Given the description of an element on the screen output the (x, y) to click on. 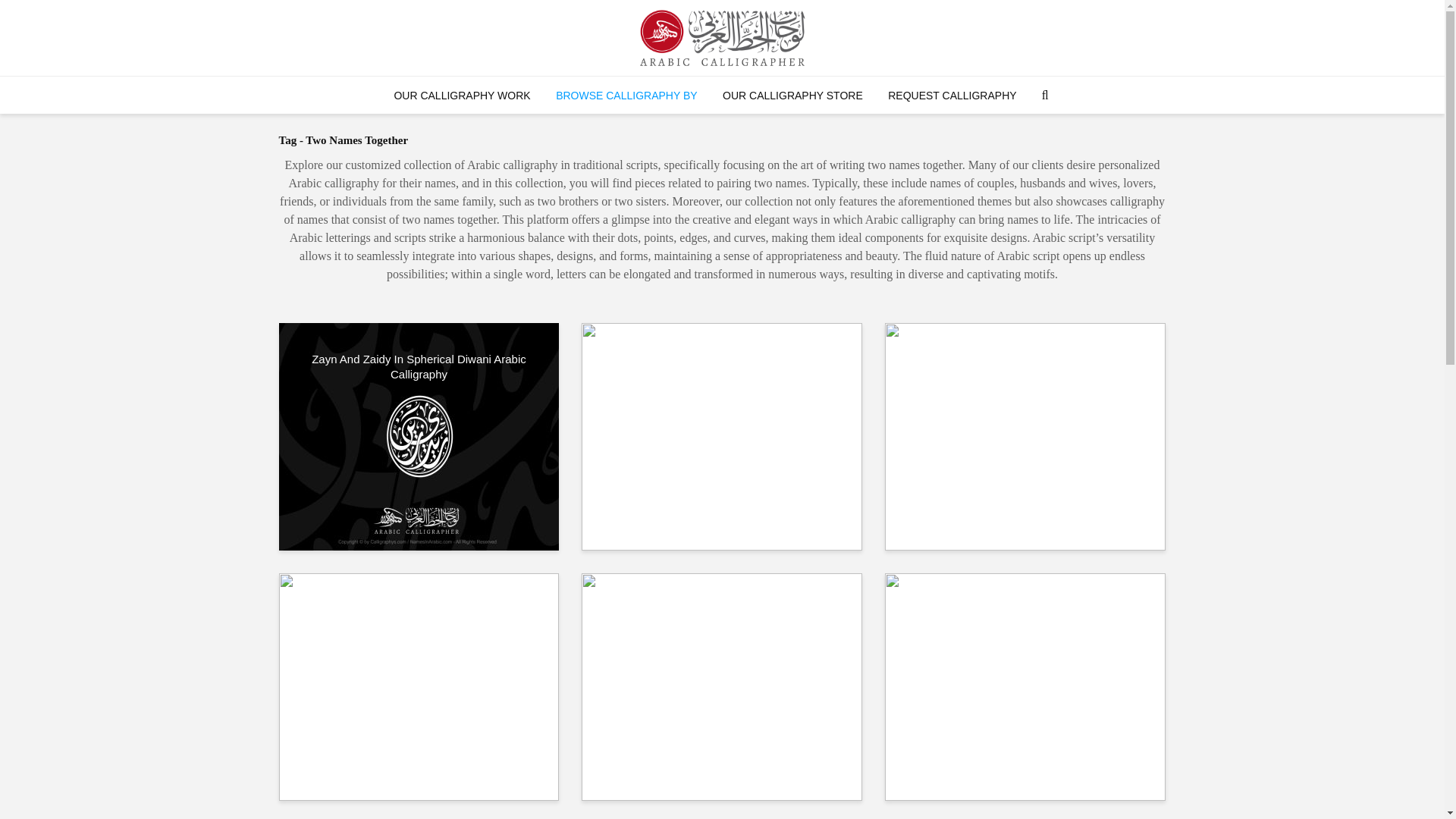
OUR CALLIGRAPHY STORE (793, 95)
Islam Salim Name In Diwani Arabic Calligraphy (419, 617)
Islam Salim Name In Diwani Arabic Calligraphy (419, 685)
Areej Badran In Diwani Arabic Calligraphy (1024, 609)
Zayn And Zaidy In Spherical Diwani Arabic Calligraphy (419, 434)
Zayn And Zaidy In Spherical Diwani Arabic Calligraphy (419, 367)
Zayn And Zaidy Butterfly Names In Diwani Arabic Calligraphy (720, 434)
REQUEST CALLIGRAPHY (951, 95)
BROWSE CALLIGRAPHY BY (625, 95)
Areej Badran In Diwani Arabic Calligraphy (1025, 685)
OUR CALLIGRAPHY WORK (461, 95)
